Given the description of an element on the screen output the (x, y) to click on. 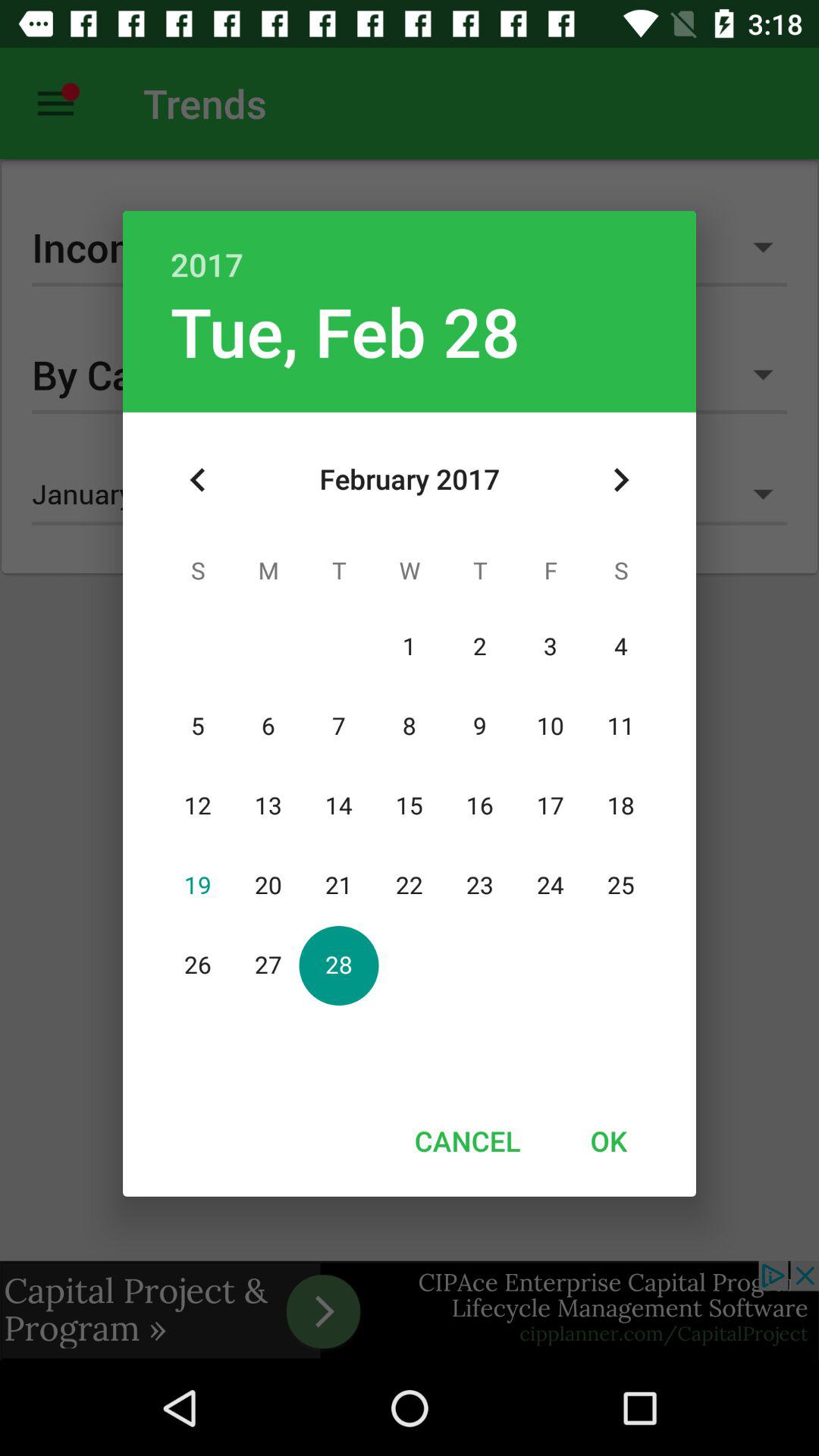
select item at the bottom (467, 1140)
